Given the description of an element on the screen output the (x, y) to click on. 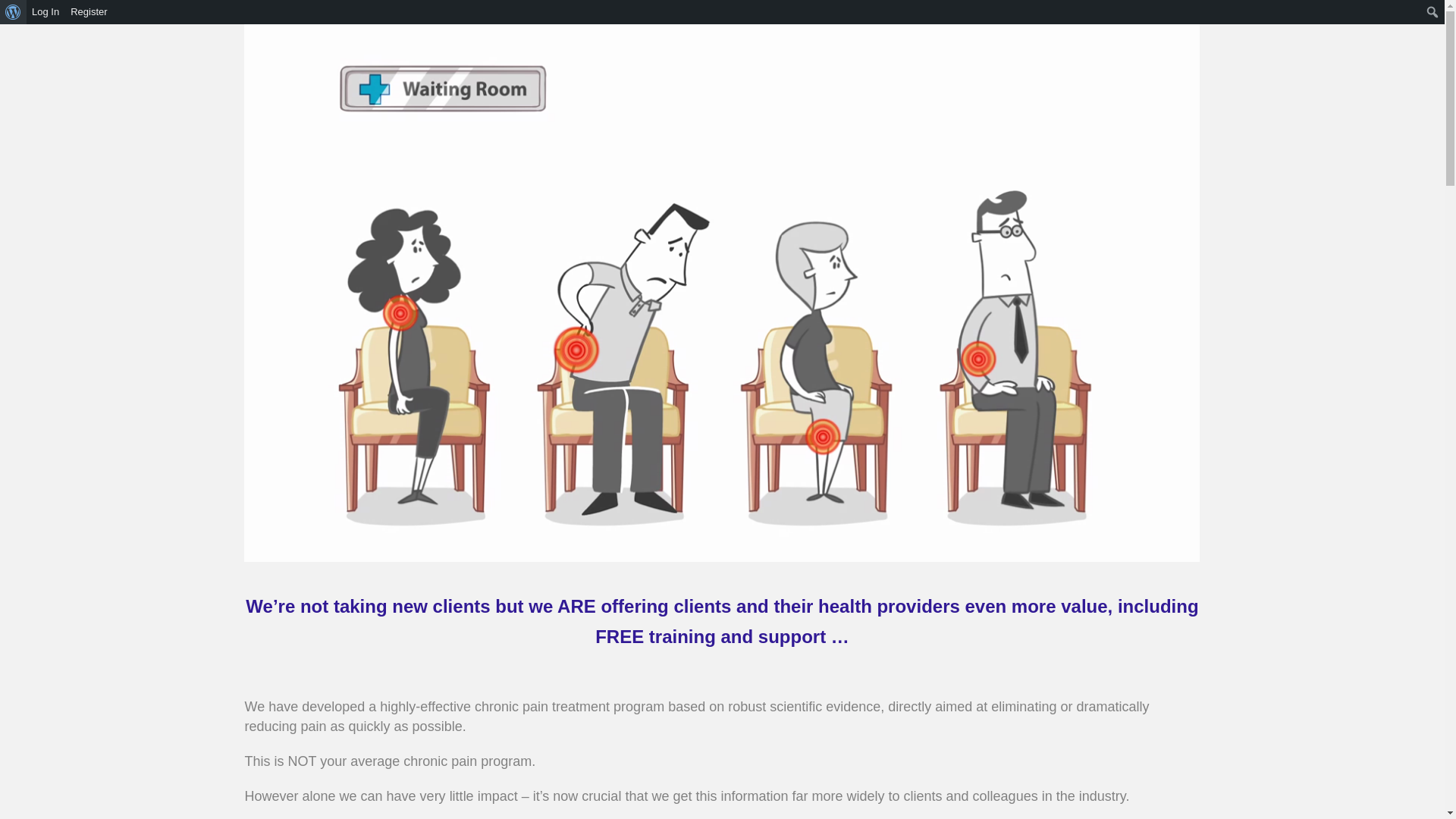
Register Element type: text (88, 12)
Log In Element type: text (45, 12)
Search Element type: text (17, 13)
